Given the description of an element on the screen output the (x, y) to click on. 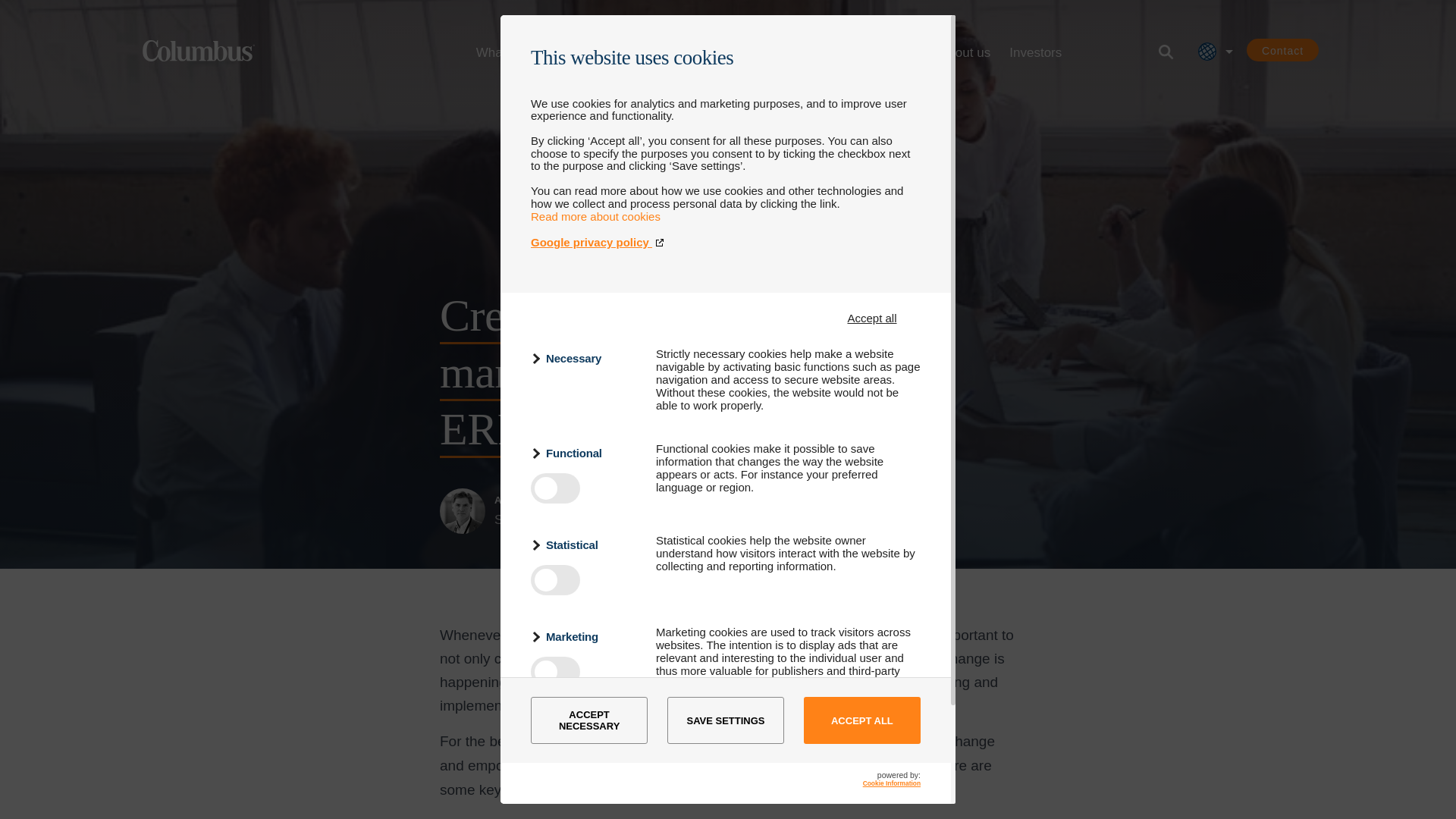
Read more about cookies (596, 215)
Marketing (584, 636)
Functional (584, 453)
Google privacy policy (725, 242)
Statistical (584, 544)
Necessary (584, 358)
Accept all (872, 318)
